Given the description of an element on the screen output the (x, y) to click on. 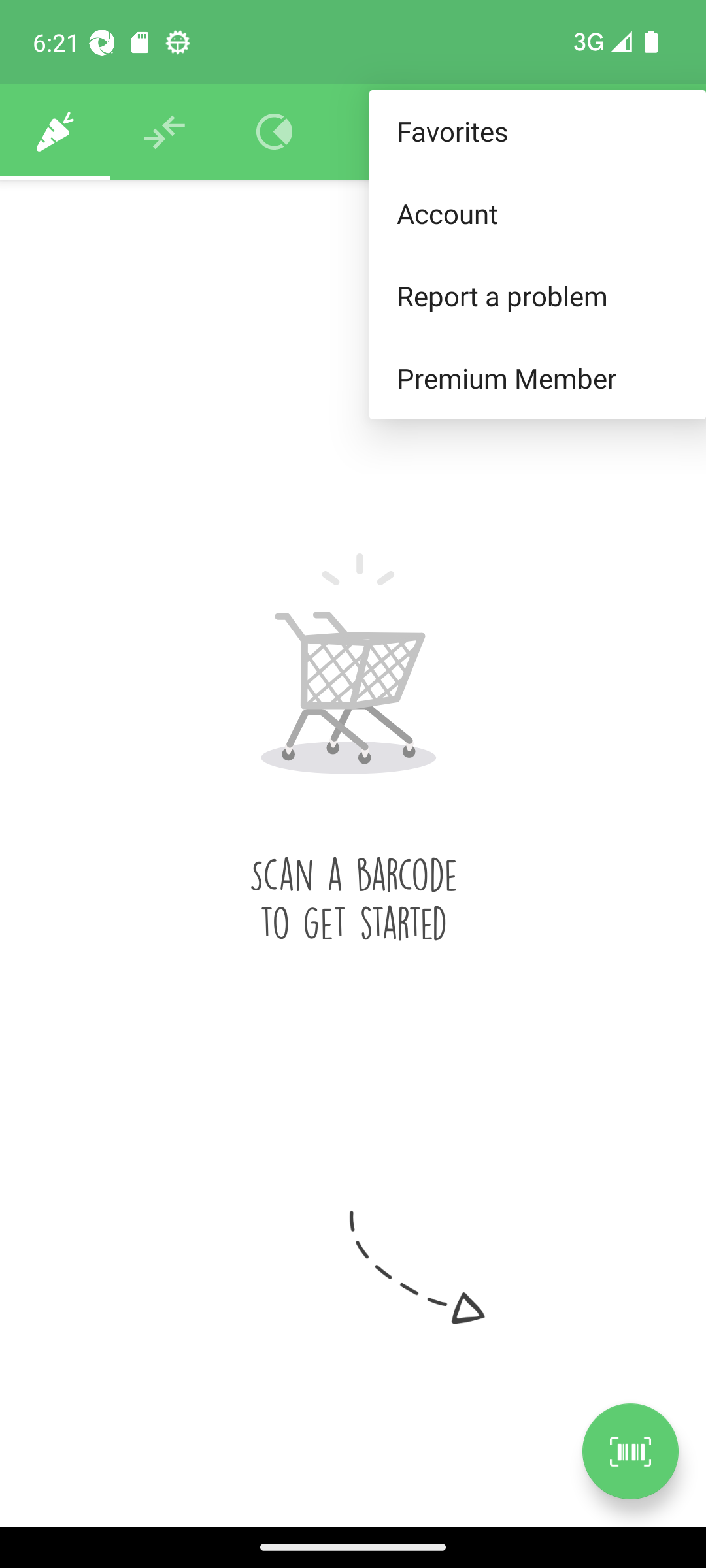
Favorites (537, 131)
Account (537, 213)
Report a problem (537, 295)
Premium Member (537, 378)
